Given the description of an element on the screen output the (x, y) to click on. 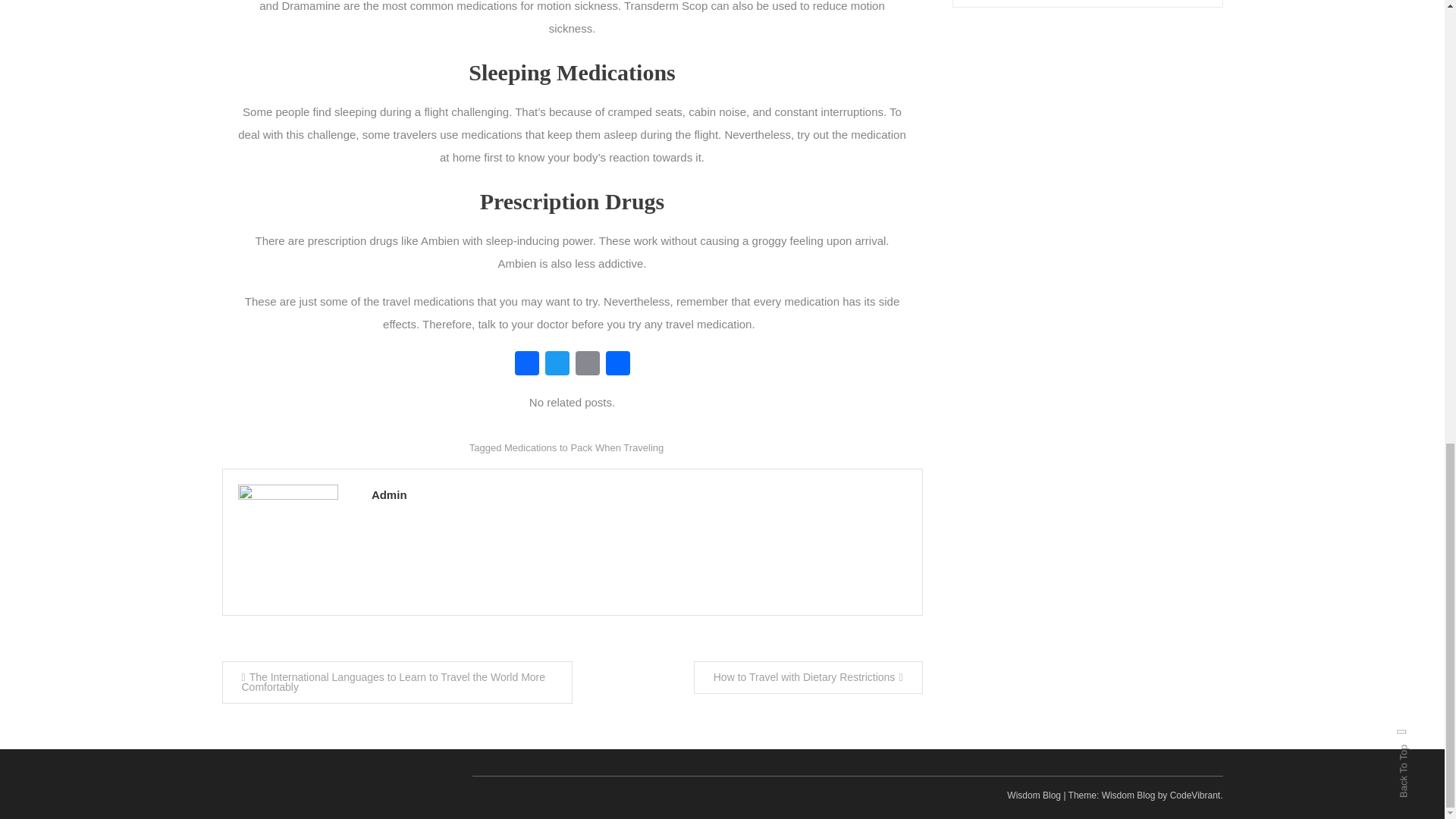
Medications to Pack When Traveling (583, 447)
How to Travel with Dietary Restrictions (808, 676)
Twitter (556, 365)
Share (616, 365)
Facebook (526, 365)
Email (587, 365)
Admin (639, 494)
Twitter (556, 365)
Email (587, 365)
